Given the description of an element on the screen output the (x, y) to click on. 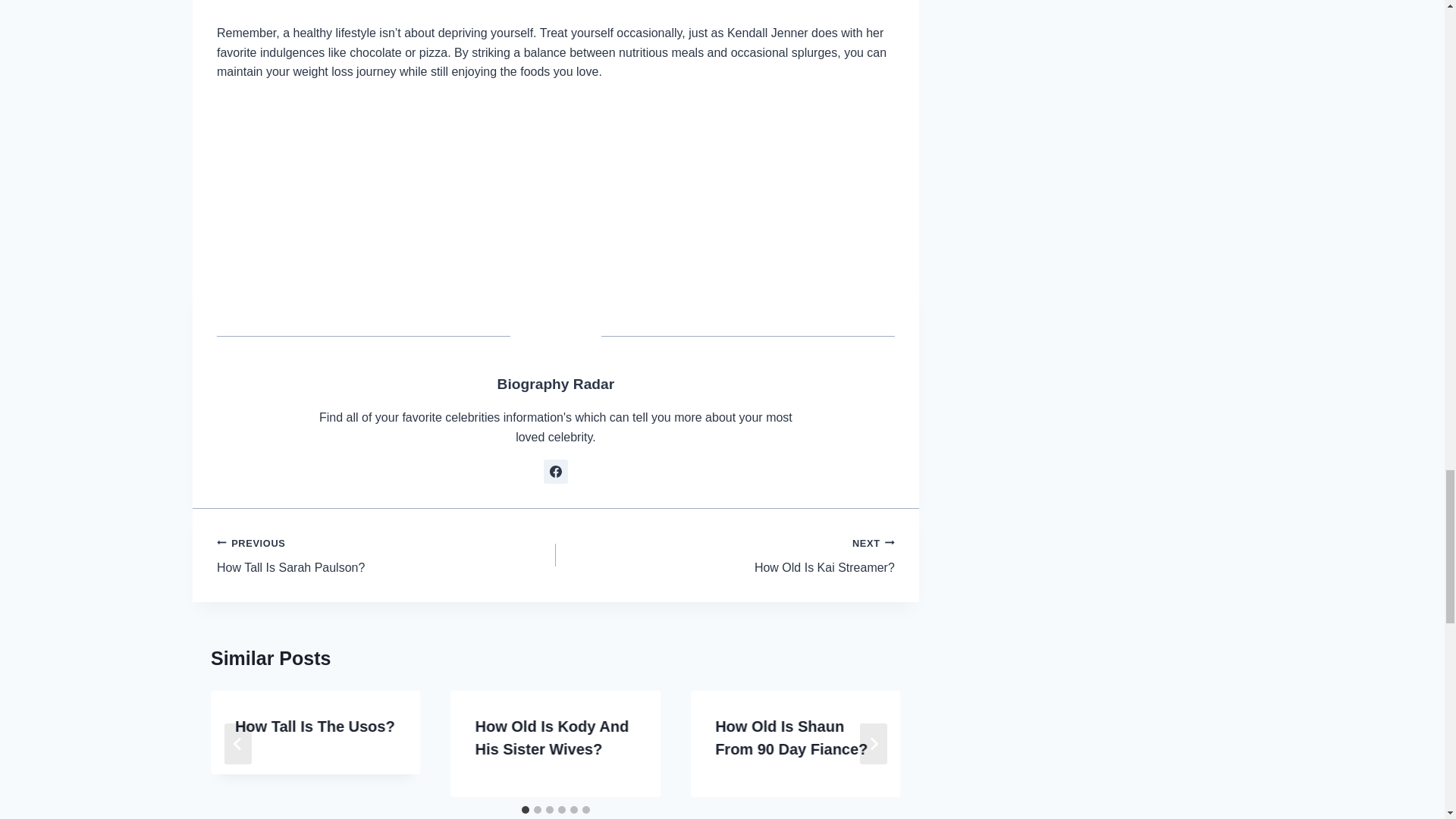
How Old Is Shaun From 90 Day Fiance? (790, 737)
How Tall Is The Usos? (314, 726)
Posts by Biography Radar (555, 383)
Follow Biography Radar on Facebook (386, 555)
How Old Is Kody And His Sister Wives? (725, 555)
Biography Radar (555, 471)
